Given the description of an element on the screen output the (x, y) to click on. 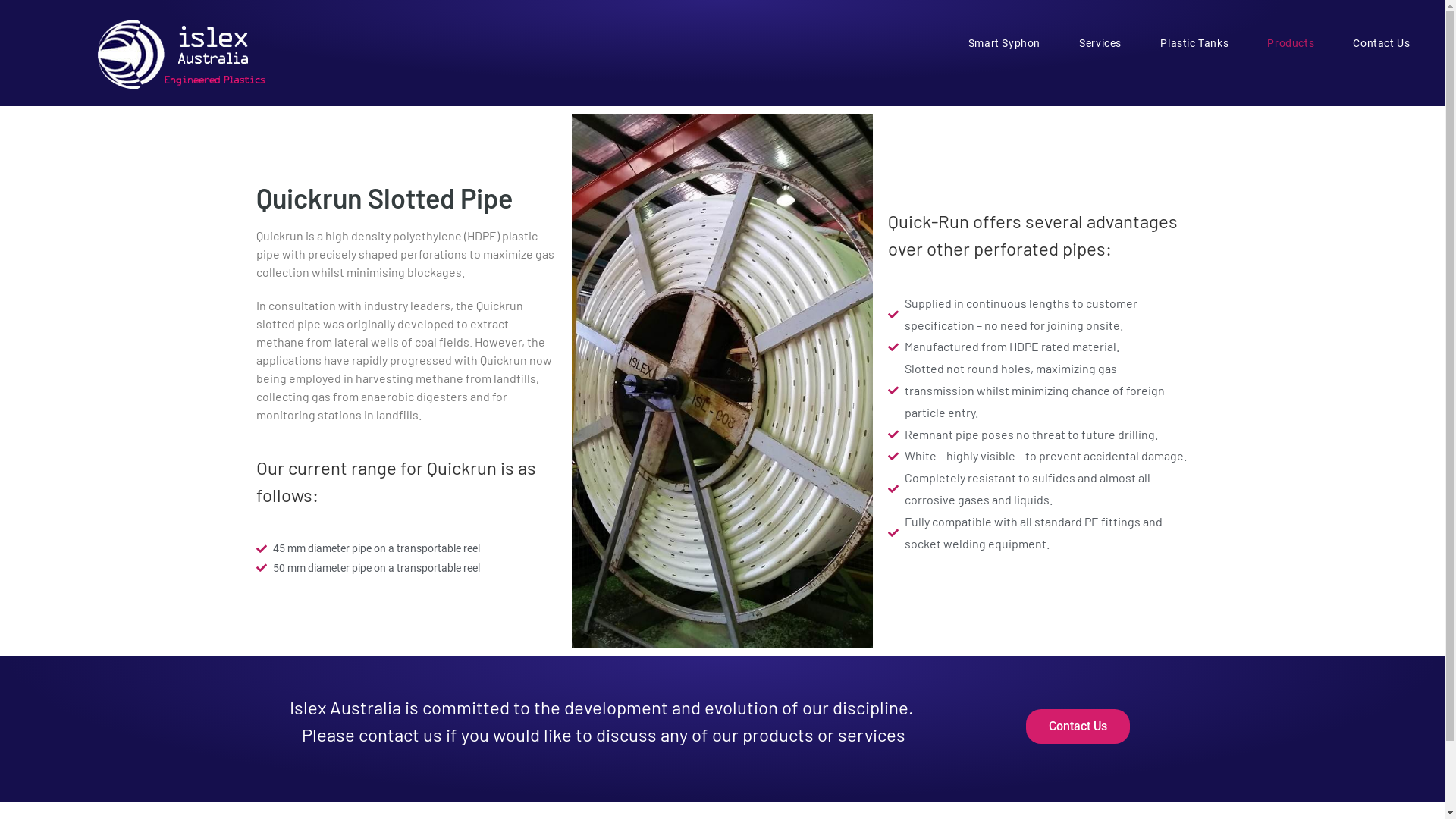
Products Element type: text (1290, 43)
contact us Element type: text (400, 734)
Services Element type: text (1100, 43)
Smart Syphon Element type: text (1003, 43)
Contact Us Element type: text (1381, 43)
Contact Us Element type: text (1077, 726)
Plastic Tanks Element type: text (1194, 43)
